Given the description of an element on the screen output the (x, y) to click on. 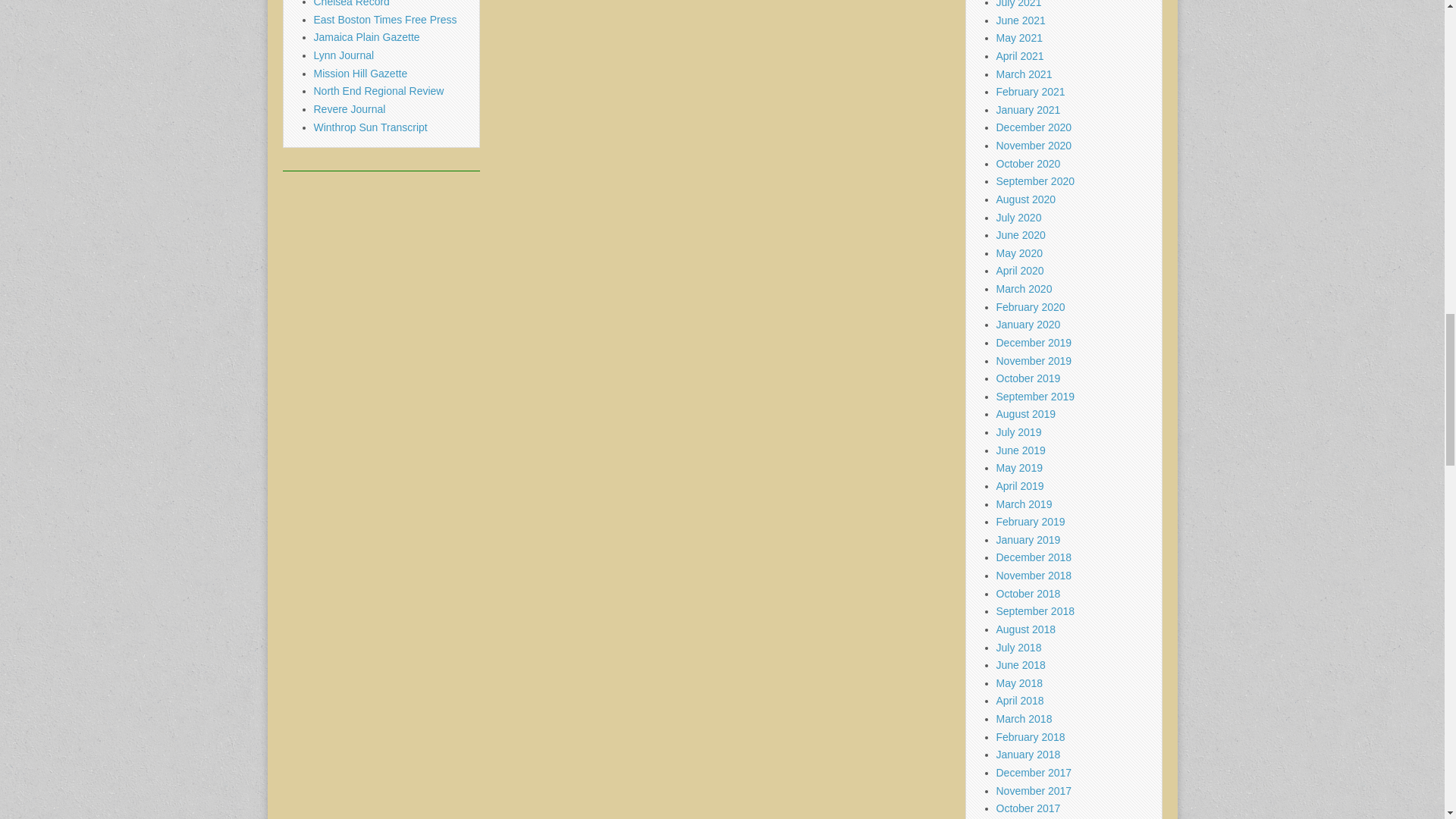
Lynn Journal (344, 55)
East Boston Times Free Press (385, 19)
Jamaica Plain Gazette (367, 37)
Chelsea Record (352, 3)
